Given the description of an element on the screen output the (x, y) to click on. 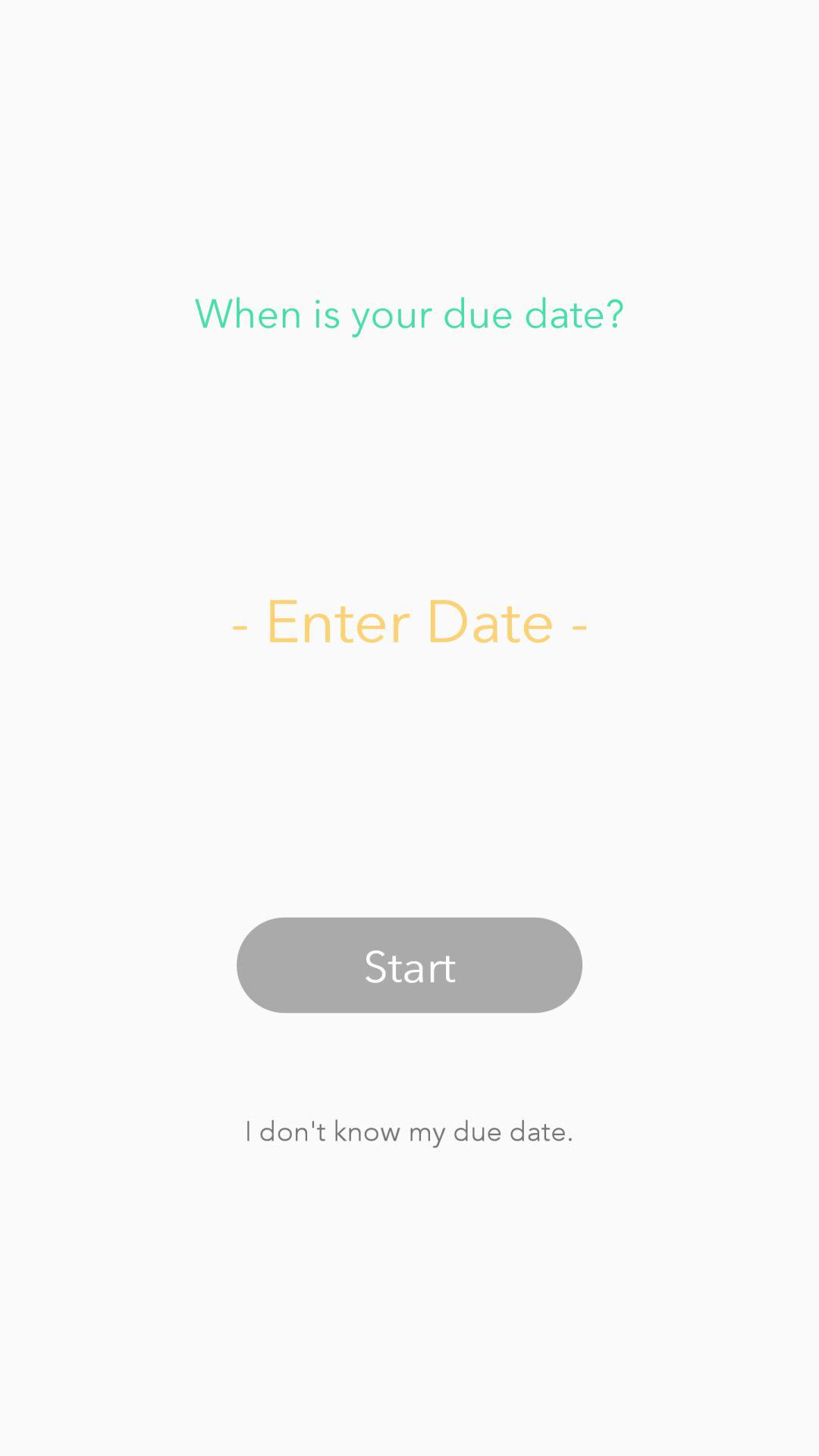
tap the item below when is your (409, 618)
